Given the description of an element on the screen output the (x, y) to click on. 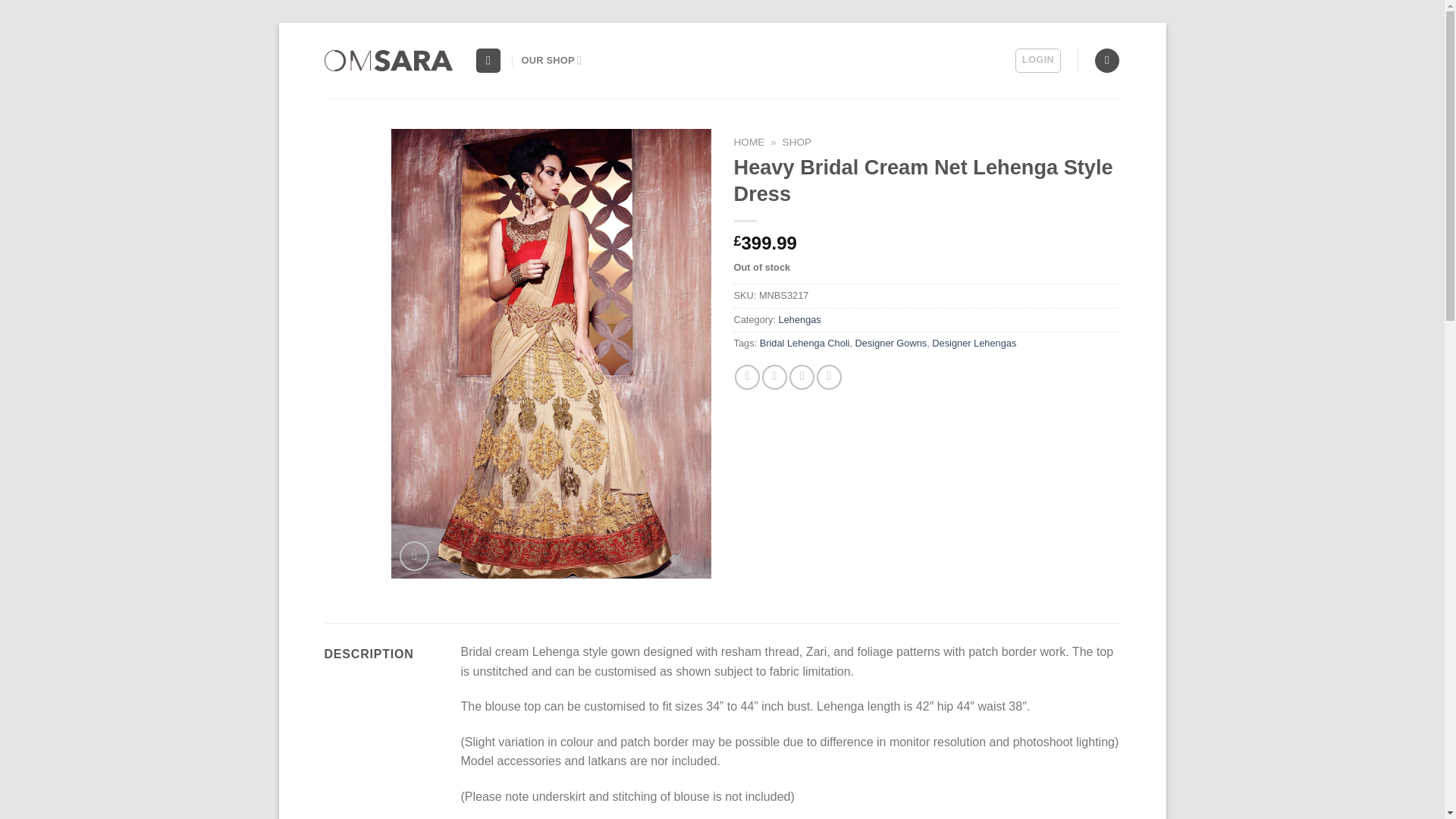
HOME (749, 142)
Lehengas (799, 319)
SHOP (797, 142)
Buy Online Indian Womens Clothing UK (551, 60)
Zoom (413, 555)
OUR SHOP (551, 60)
